Given the description of an element on the screen output the (x, y) to click on. 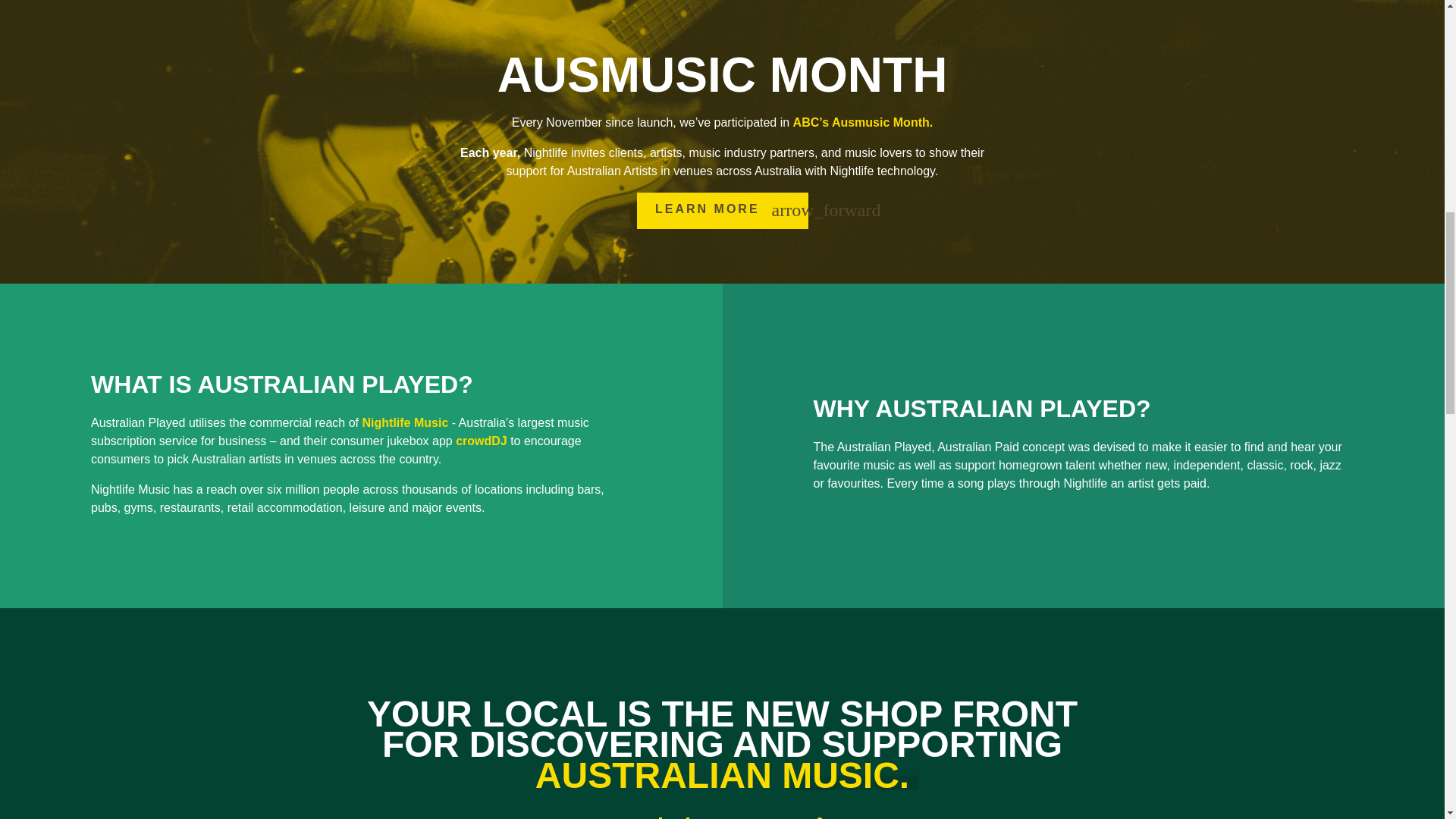
crowdDJ (480, 440)
Nightlife Music (405, 422)
